Given the description of an element on the screen output the (x, y) to click on. 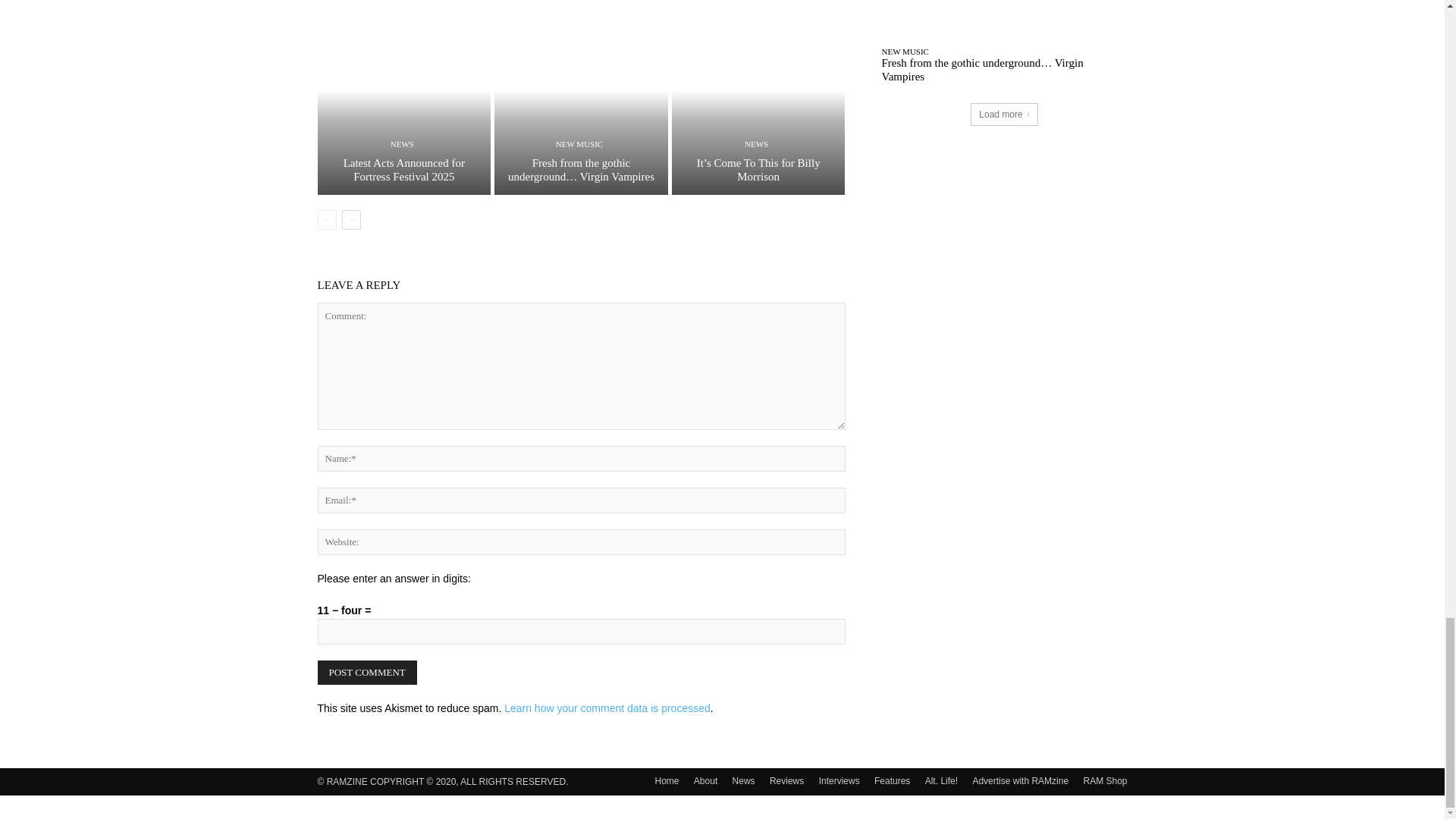
Post Comment (366, 672)
